Given the description of an element on the screen output the (x, y) to click on. 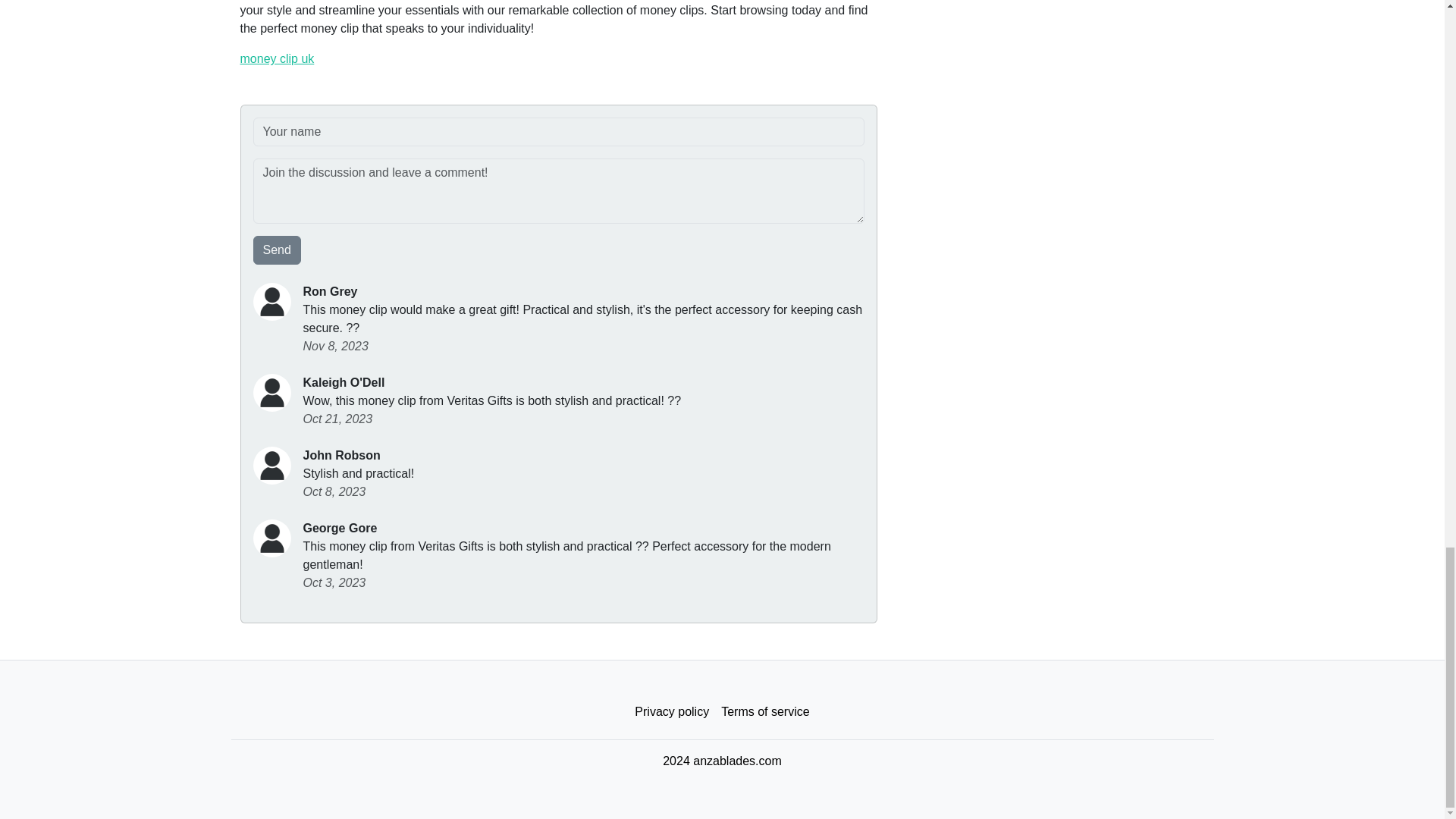
Send (277, 249)
Privacy policy (671, 711)
Terms of service (764, 711)
money clip uk (277, 58)
Send (277, 249)
